Given the description of an element on the screen output the (x, y) to click on. 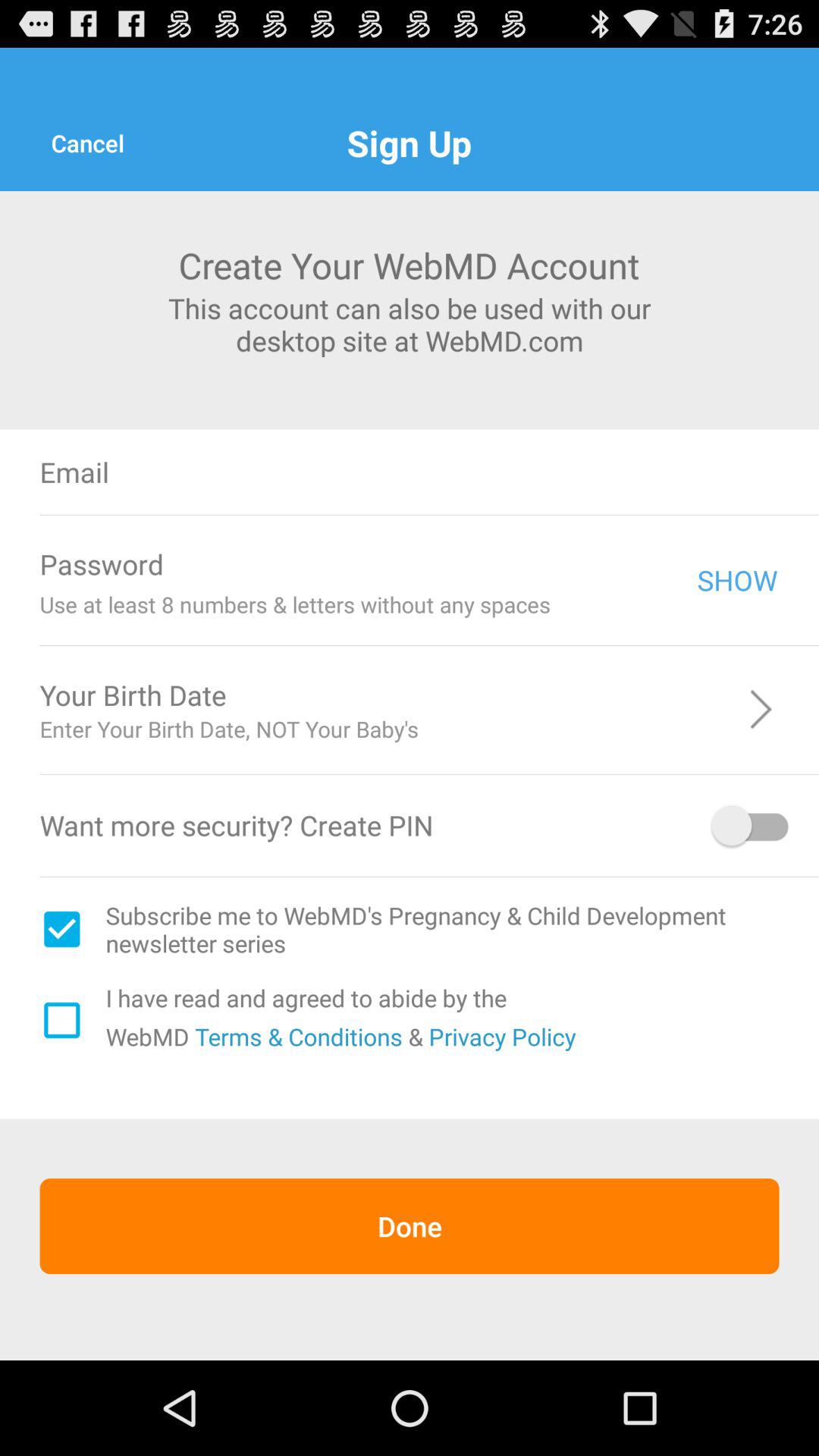
press the item next to the  &  item (502, 1036)
